Given the description of an element on the screen output the (x, y) to click on. 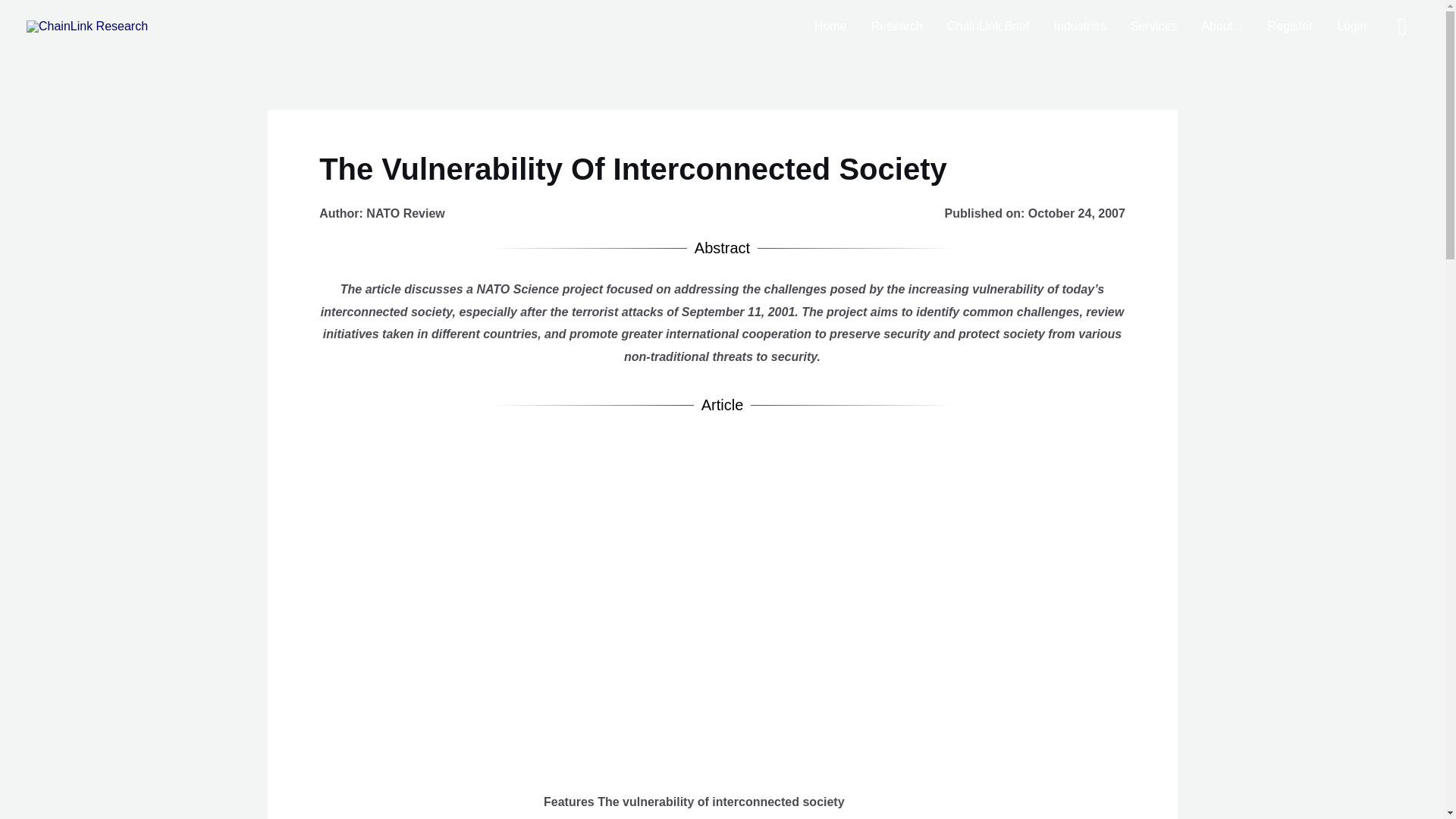
Home (830, 26)
Register (1289, 26)
ChainLink Brief (988, 26)
Research (896, 26)
Login (1351, 26)
Services (1153, 26)
Industries (1080, 26)
About (1222, 26)
